Given the description of an element on the screen output the (x, y) to click on. 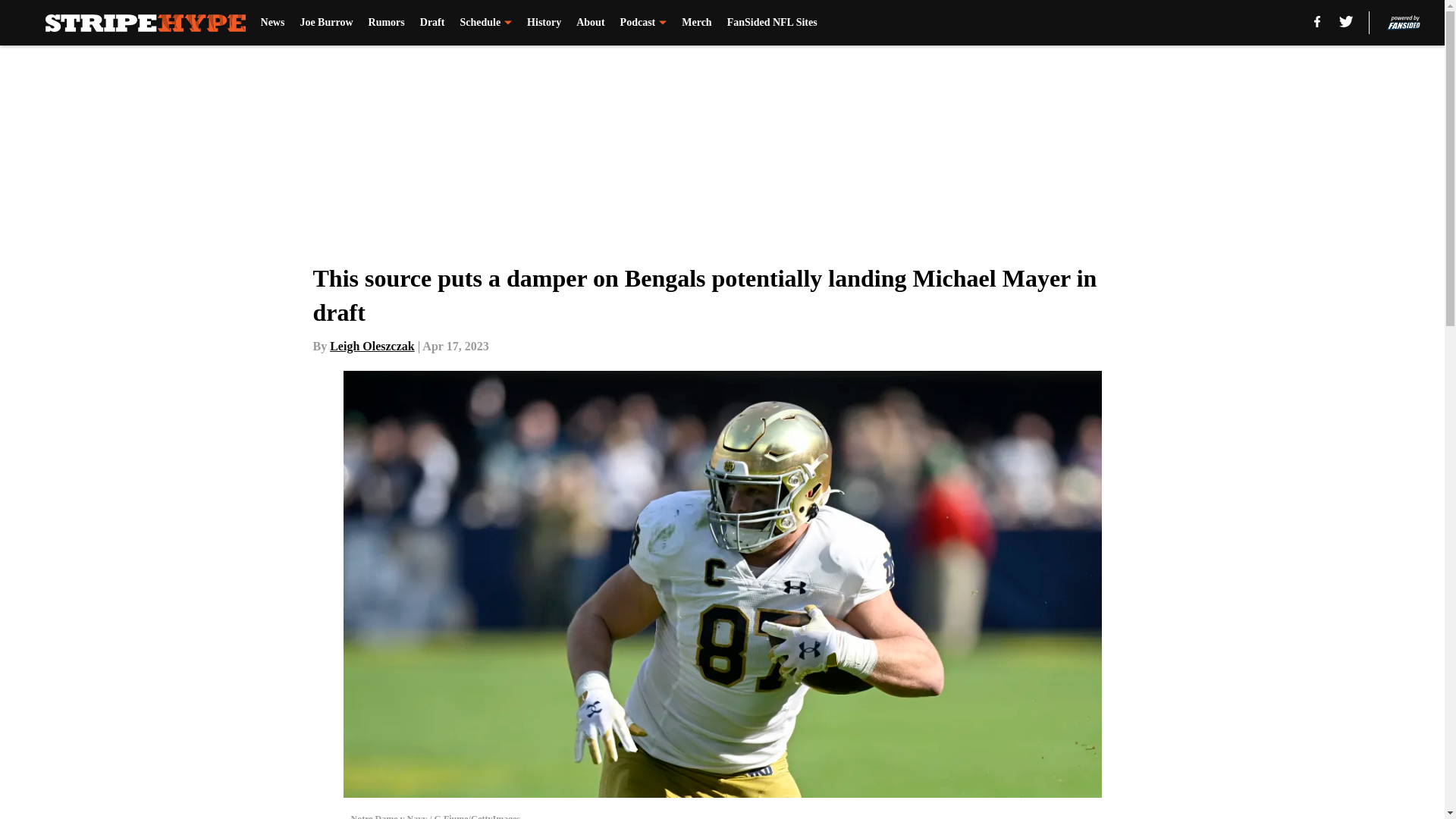
Draft (432, 22)
News (272, 22)
History (543, 22)
Rumors (386, 22)
Joe Burrow (325, 22)
Merch (696, 22)
Leigh Oleszczak (372, 345)
FanSided NFL Sites (771, 22)
About (590, 22)
